Given the description of an element on the screen output the (x, y) to click on. 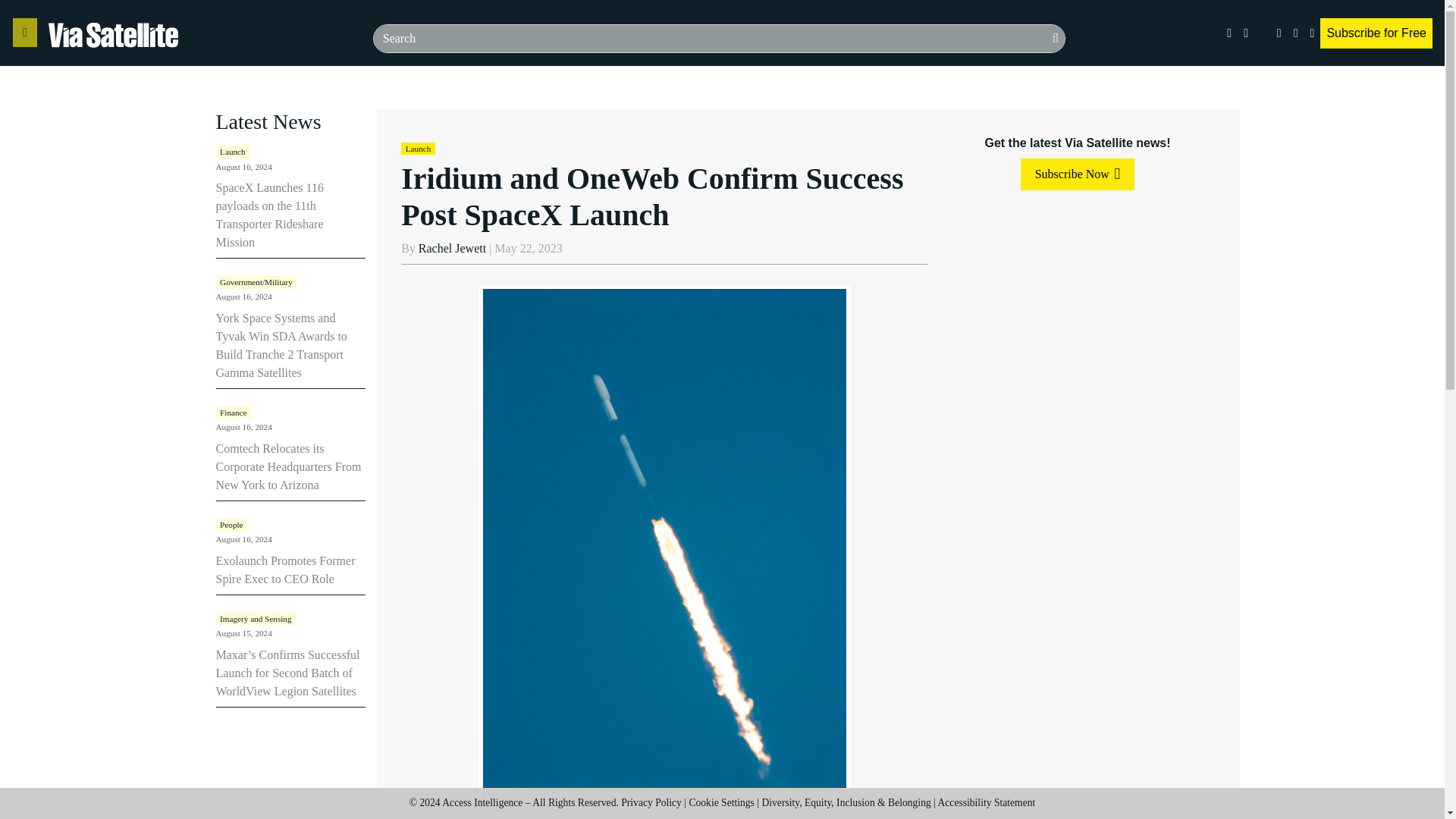
Exolaunch Promotes Former Spire Exec to CEO Role (285, 569)
Launch (231, 151)
Finance (232, 412)
People (231, 524)
Imagery and Sensing (255, 618)
Subscribe for Free (1376, 33)
